Given the description of an element on the screen output the (x, y) to click on. 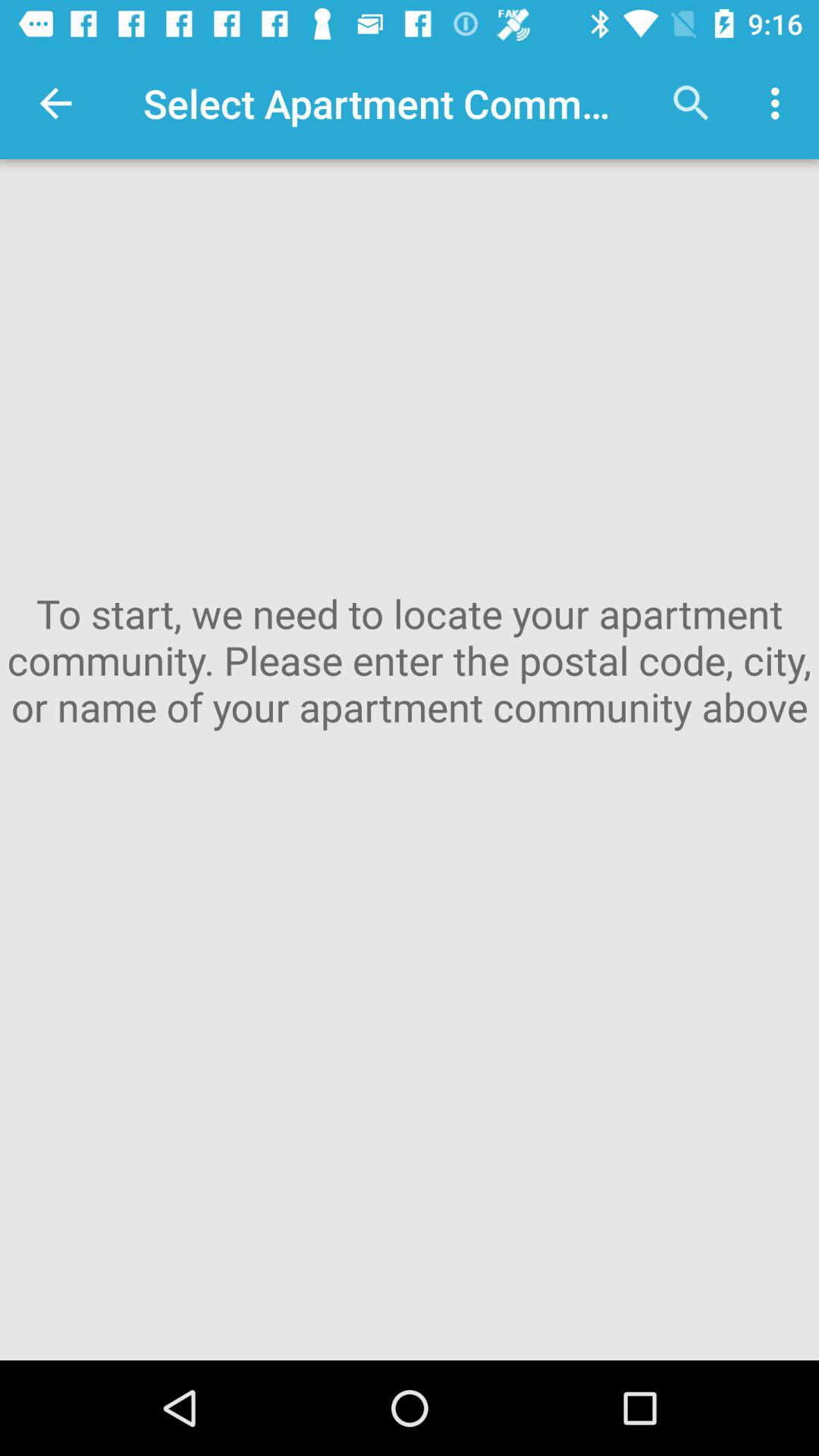
tap icon next to select apartment community icon (55, 103)
